Given the description of an element on the screen output the (x, y) to click on. 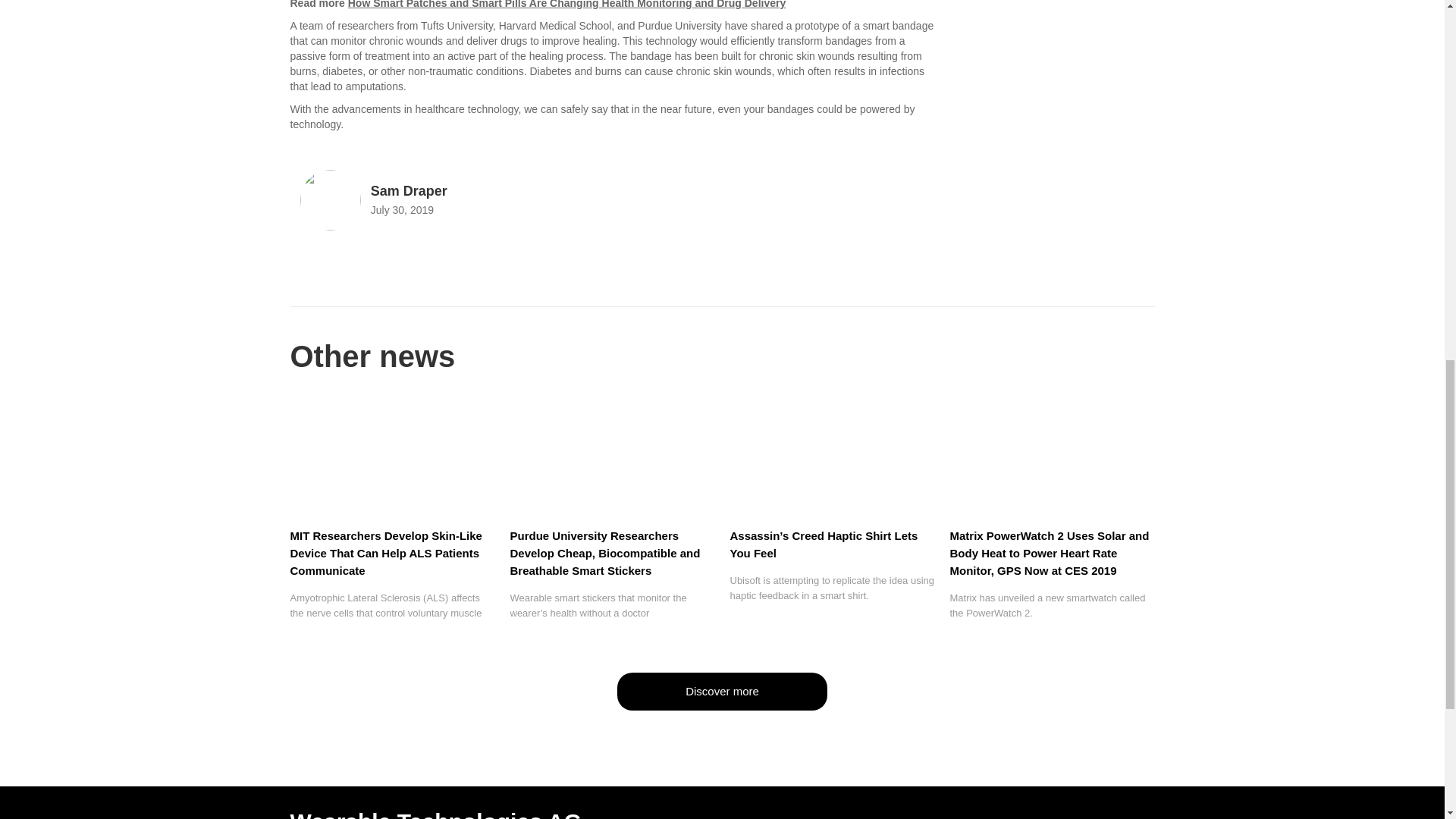
Discover more (722, 691)
